Given the description of an element on the screen output the (x, y) to click on. 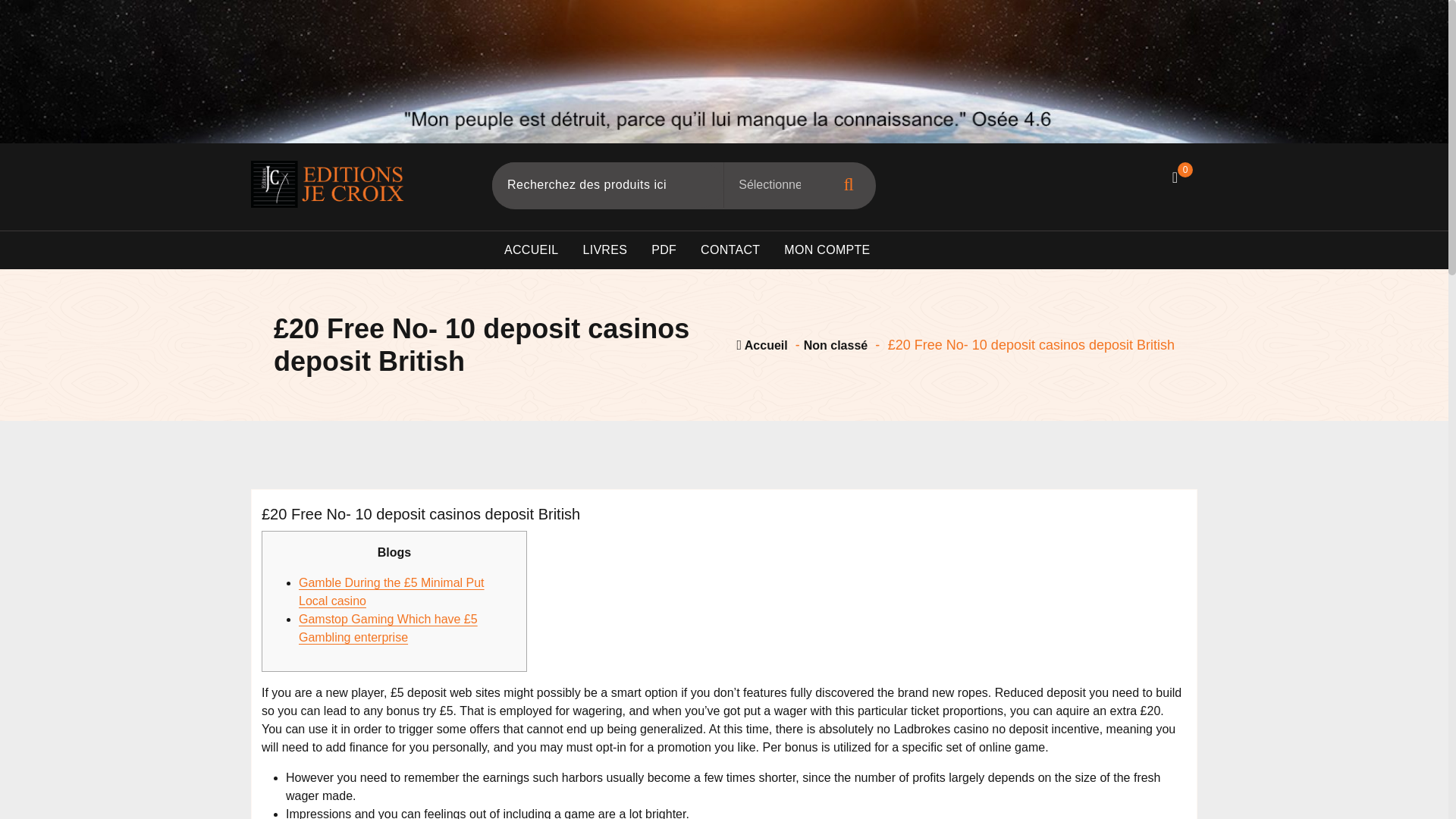
MON COMPTE (826, 249)
CONTACT (730, 249)
CONTACT (730, 249)
MON COMPTE (826, 249)
PDF (663, 249)
Accueil (761, 345)
LIVRES (604, 249)
0 (1175, 177)
LIVRES (604, 249)
ACCUEIL (531, 249)
PDF (663, 249)
ACCUEIL (531, 249)
